Given the description of an element on the screen output the (x, y) to click on. 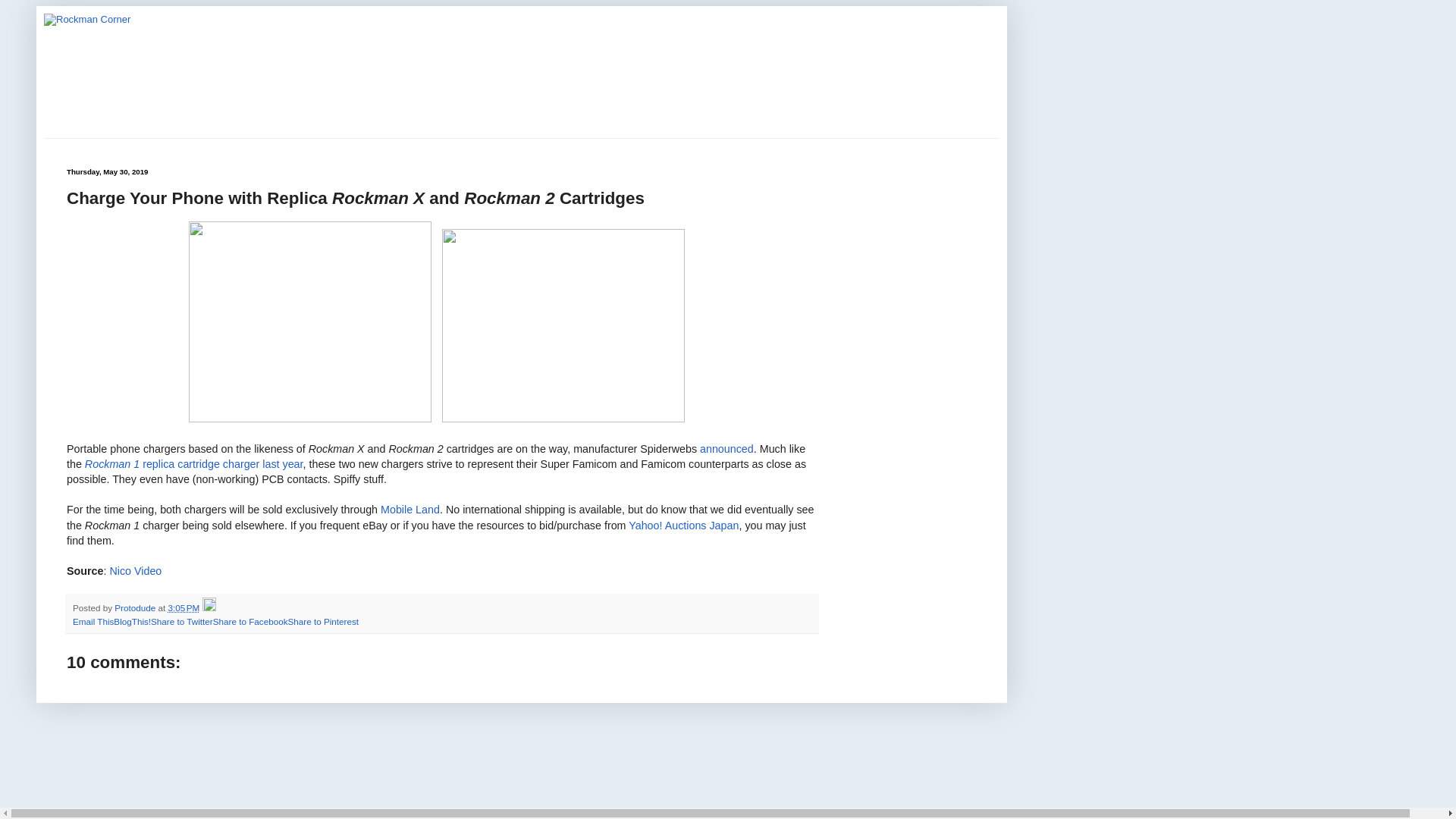
Share to Facebook (250, 621)
Share to Pinterest (322, 621)
Share to Facebook (250, 621)
announced (727, 449)
Rockman 1 replica cartridge charger last year (193, 463)
Share to Twitter (181, 621)
Nico Video (135, 571)
Share to Pinterest (322, 621)
BlogThis! (132, 621)
permanent link (183, 607)
Edit Post (208, 607)
BlogThis! (132, 621)
Yahoo! Auctions Japan (683, 524)
Share to Twitter (181, 621)
